Given the description of an element on the screen output the (x, y) to click on. 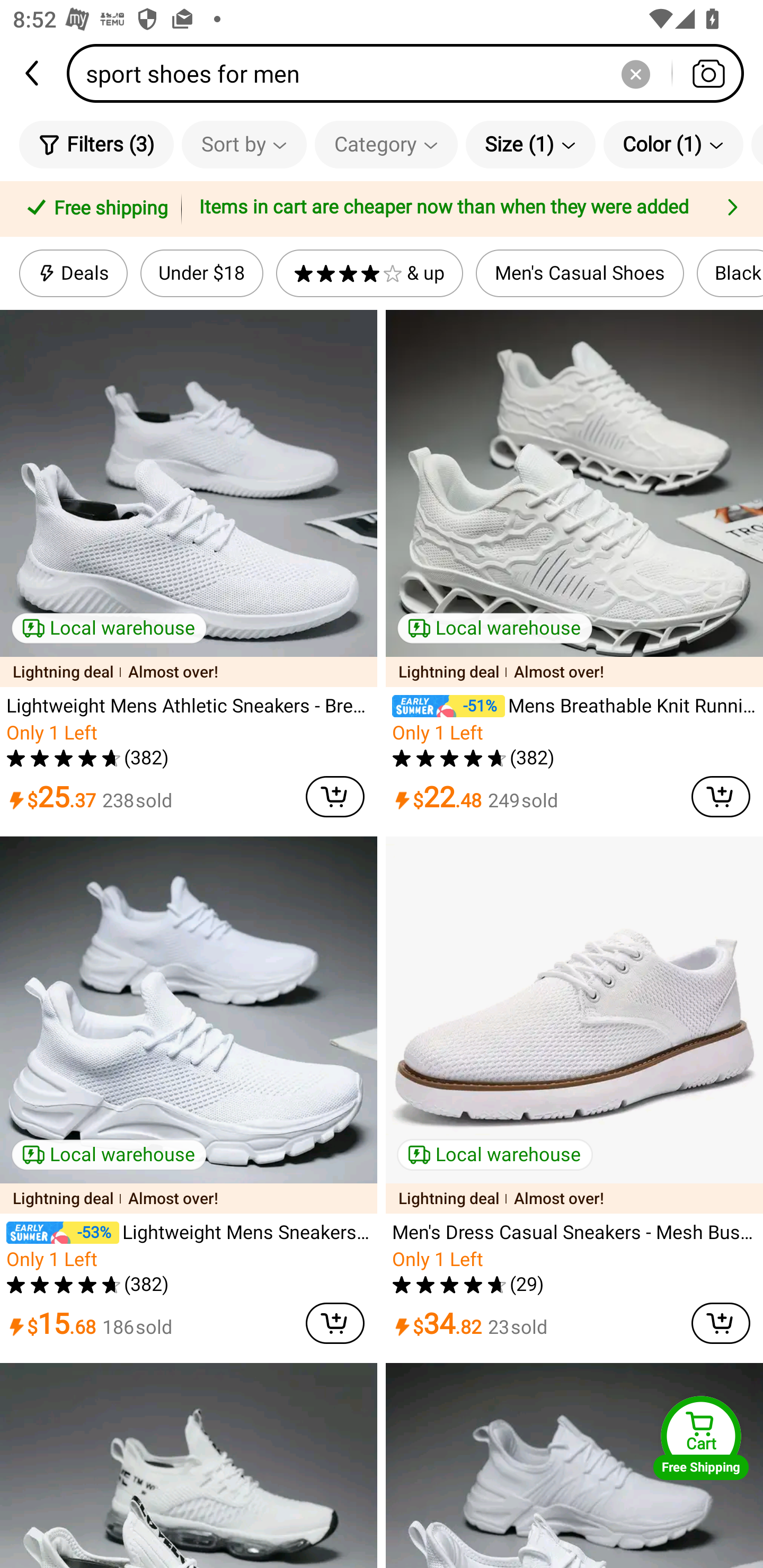
back (33, 72)
sport shoes for men (411, 73)
Delete search history (635, 73)
Search by photo (708, 73)
Filters (3) (96, 143)
Sort by (243, 143)
Category (385, 143)
Size (1) (530, 143)
Color (1) (673, 143)
 Free shipping (93, 208)
Deals (73, 273)
Under $18 (201, 273)
& up (369, 273)
Men's Casual Shoes (580, 273)
Black (729, 273)
Cart Free Shipping Cart (701, 1437)
